Given the description of an element on the screen output the (x, y) to click on. 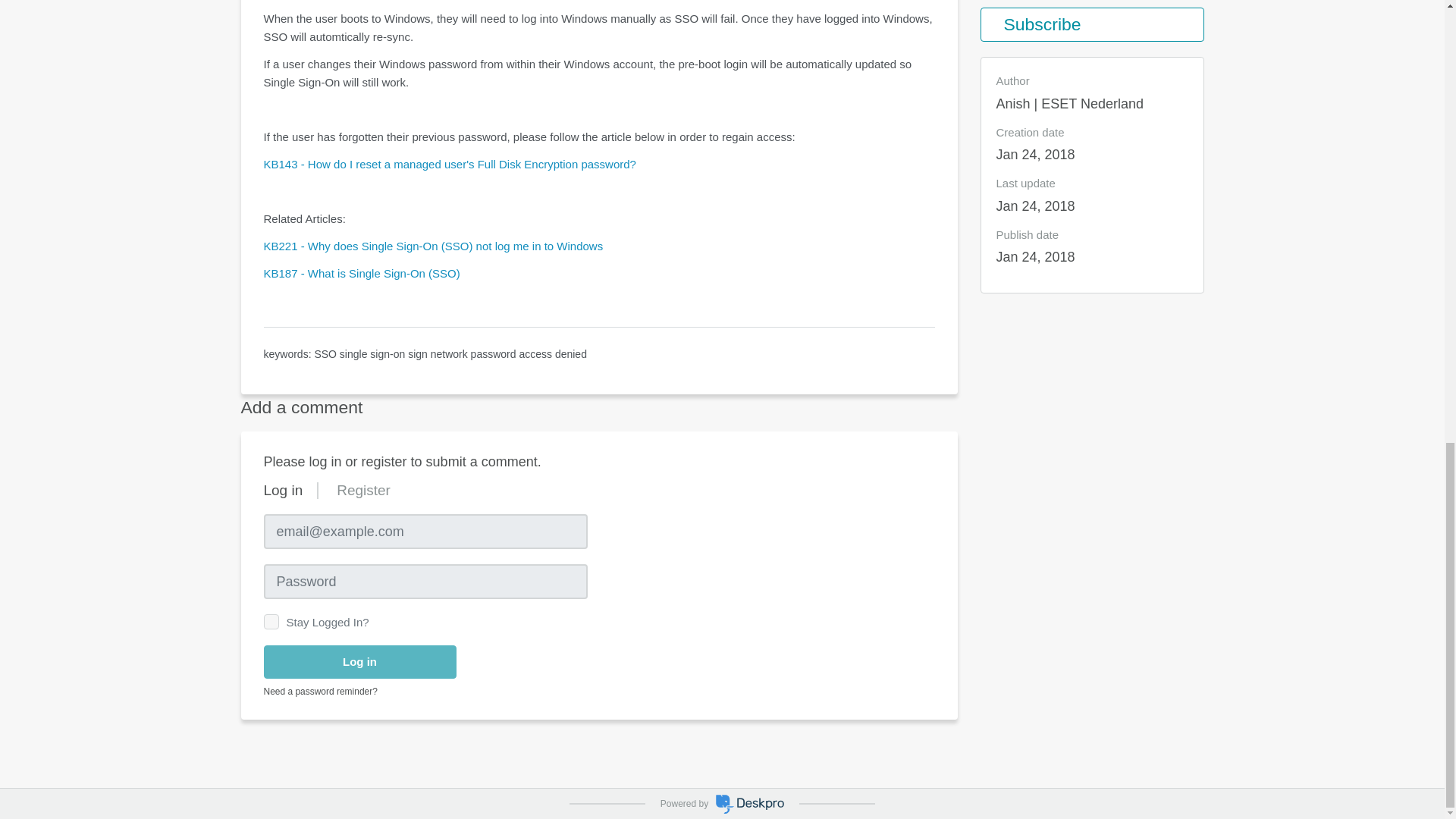
Log in (282, 489)
Log in (360, 662)
Register (363, 489)
